Given the description of an element on the screen output the (x, y) to click on. 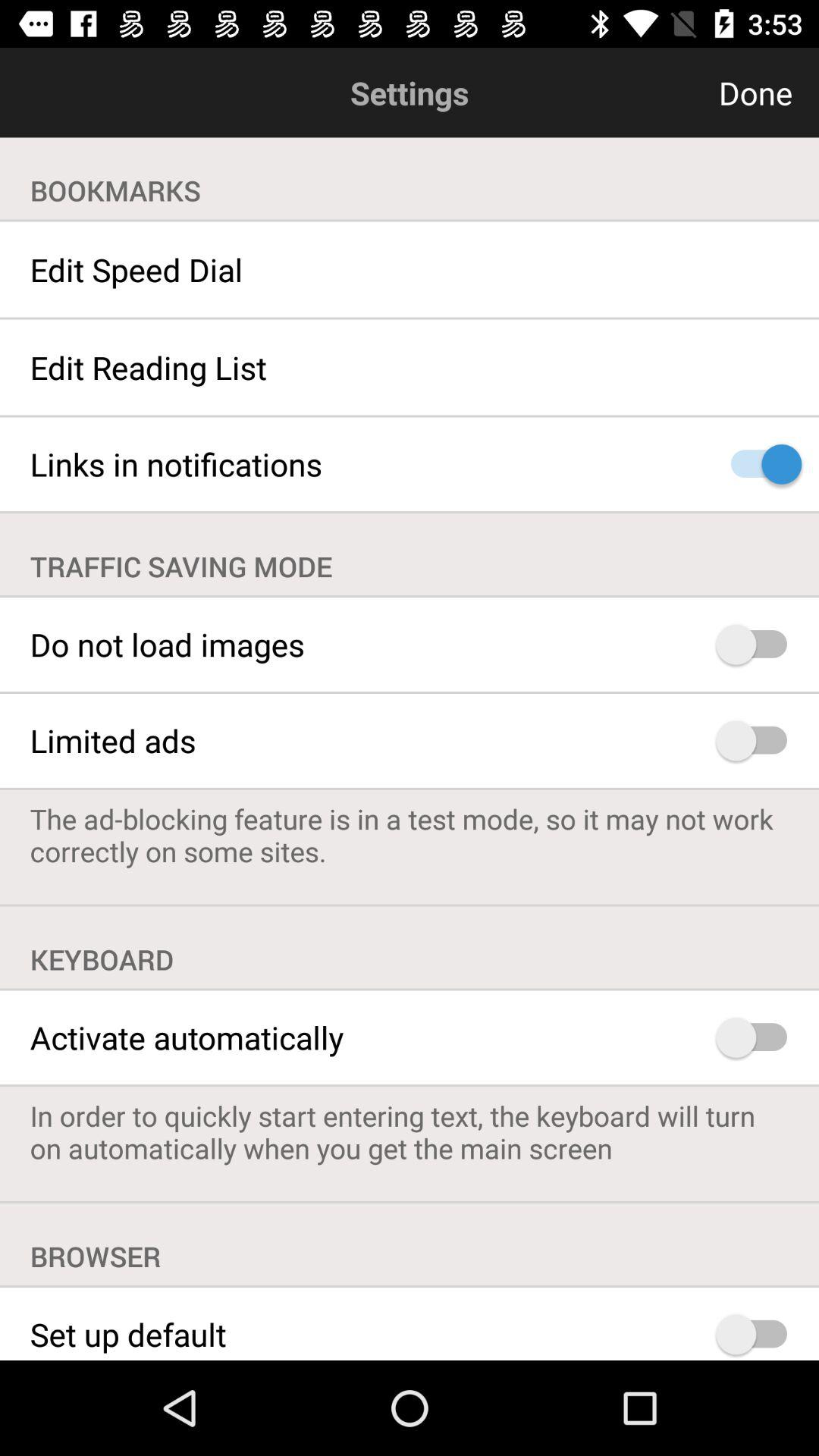
toggle set up default (758, 1333)
